Given the description of an element on the screen output the (x, y) to click on. 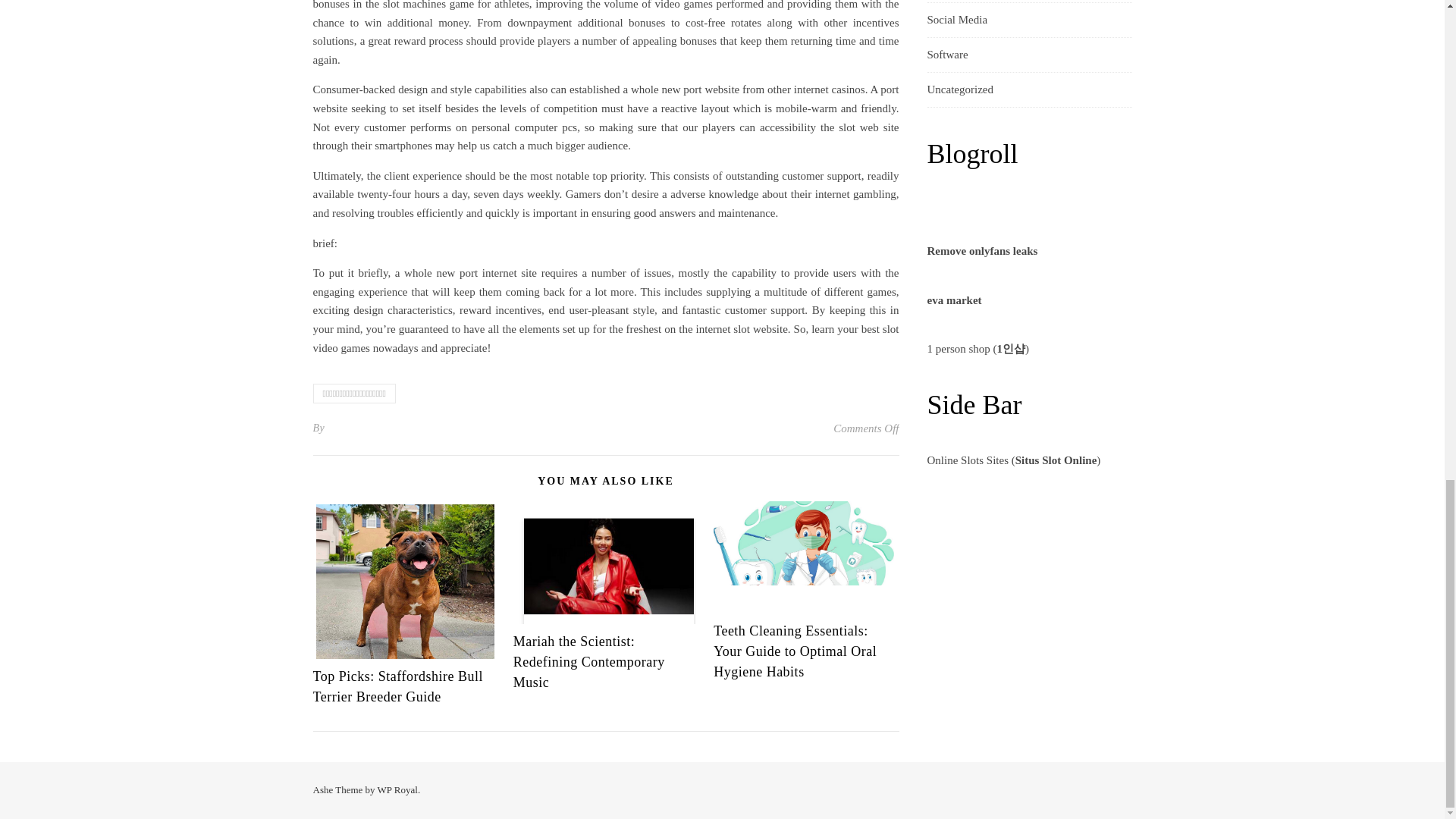
Social Media (956, 19)
Remove onlyfans leaks (981, 250)
eva market (953, 300)
Service (943, 1)
Top Picks: Staffordshire Bull Terrier Breeder Guide (397, 686)
Mariah the Scientist: Redefining Contemporary Music (589, 661)
Uncategorized (959, 89)
Software (947, 54)
